Given the description of an element on the screen output the (x, y) to click on. 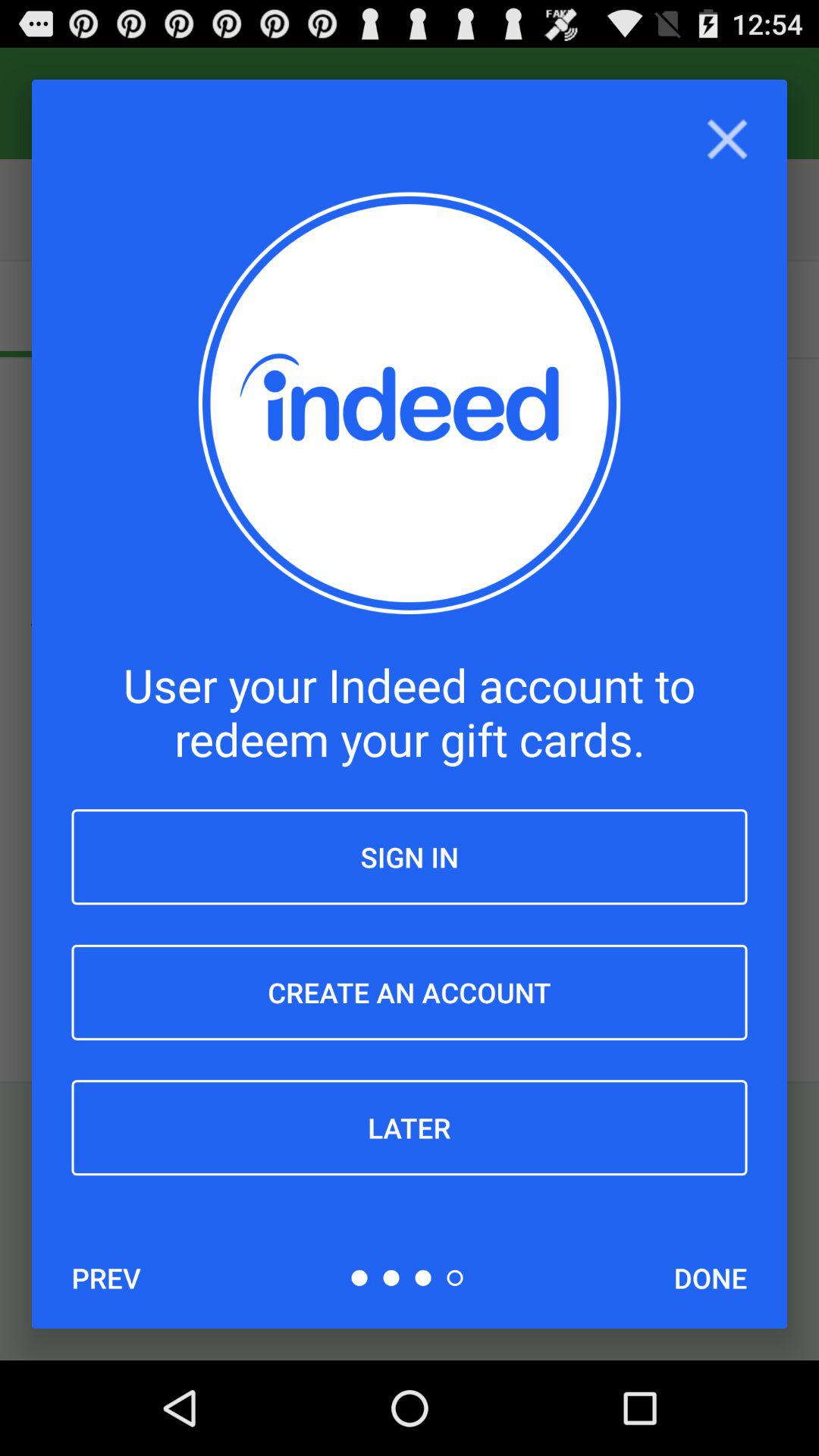
open the sign in icon (409, 856)
